Given the description of an element on the screen output the (x, y) to click on. 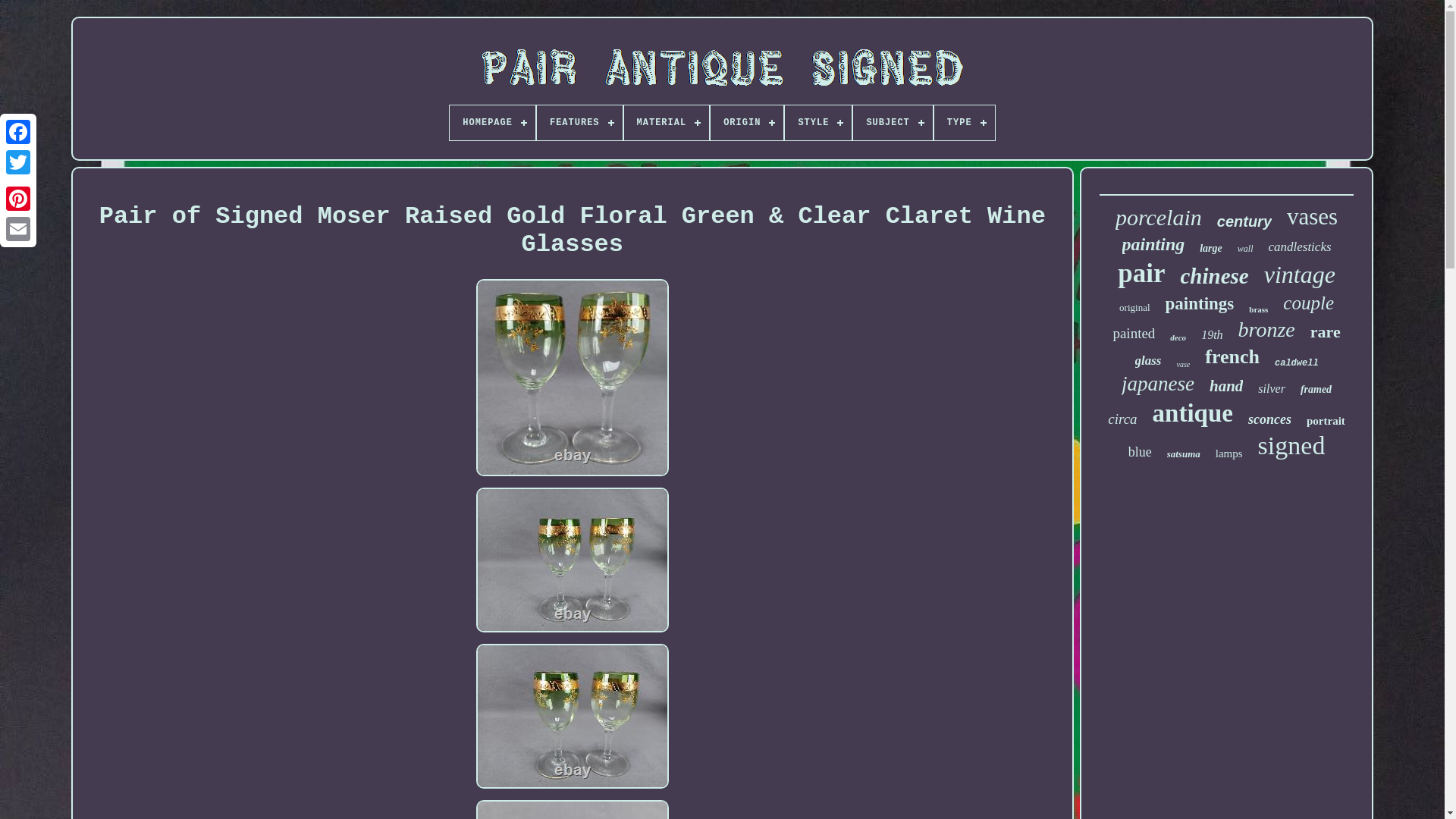
Pinterest (17, 198)
MATERIAL (667, 122)
HOMEPAGE (492, 122)
FEATURES (580, 122)
